Given the description of an element on the screen output the (x, y) to click on. 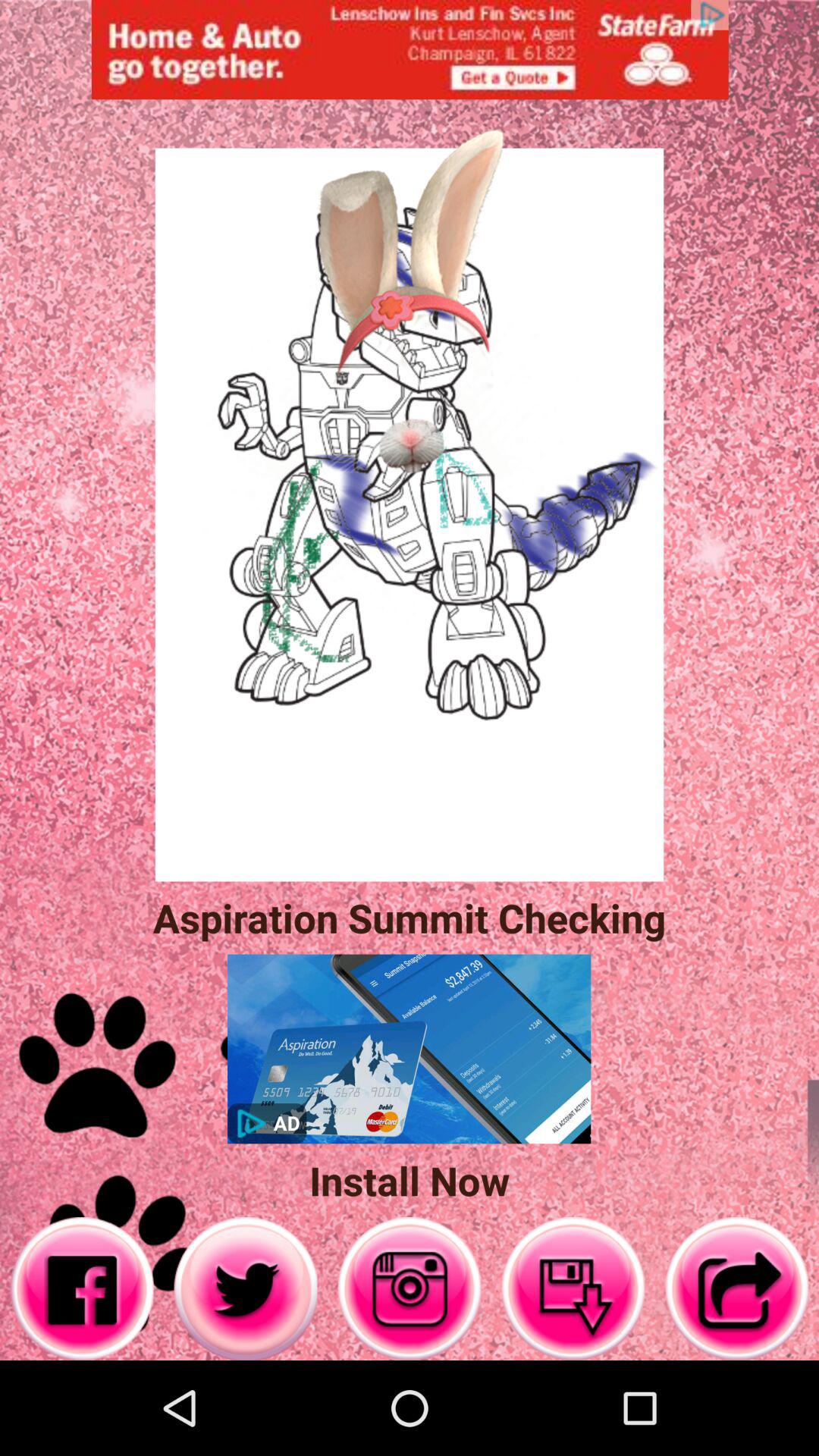
share the picture (737, 1288)
